Given the description of an element on the screen output the (x, y) to click on. 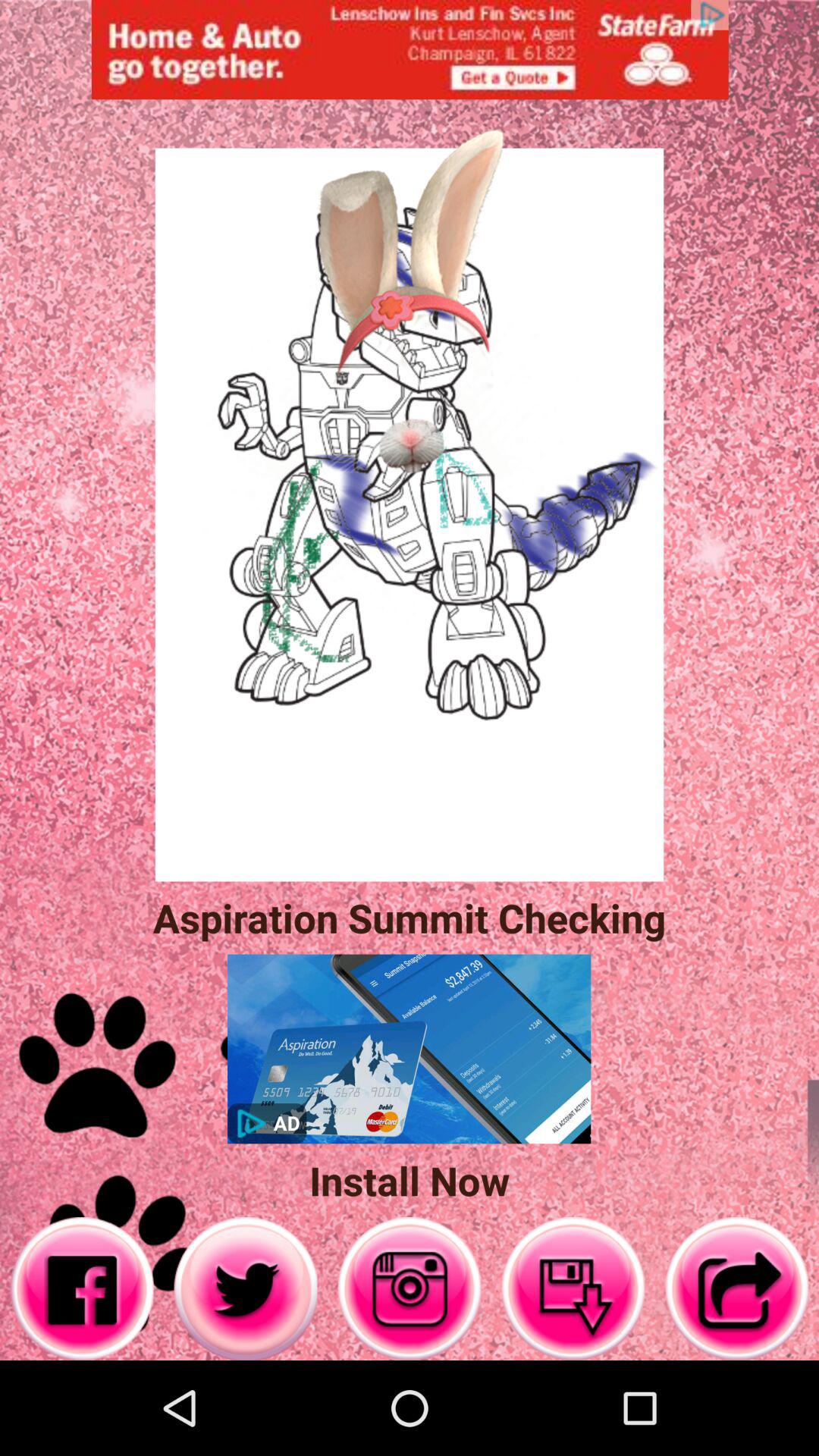
share the picture (737, 1288)
